Given the description of an element on the screen output the (x, y) to click on. 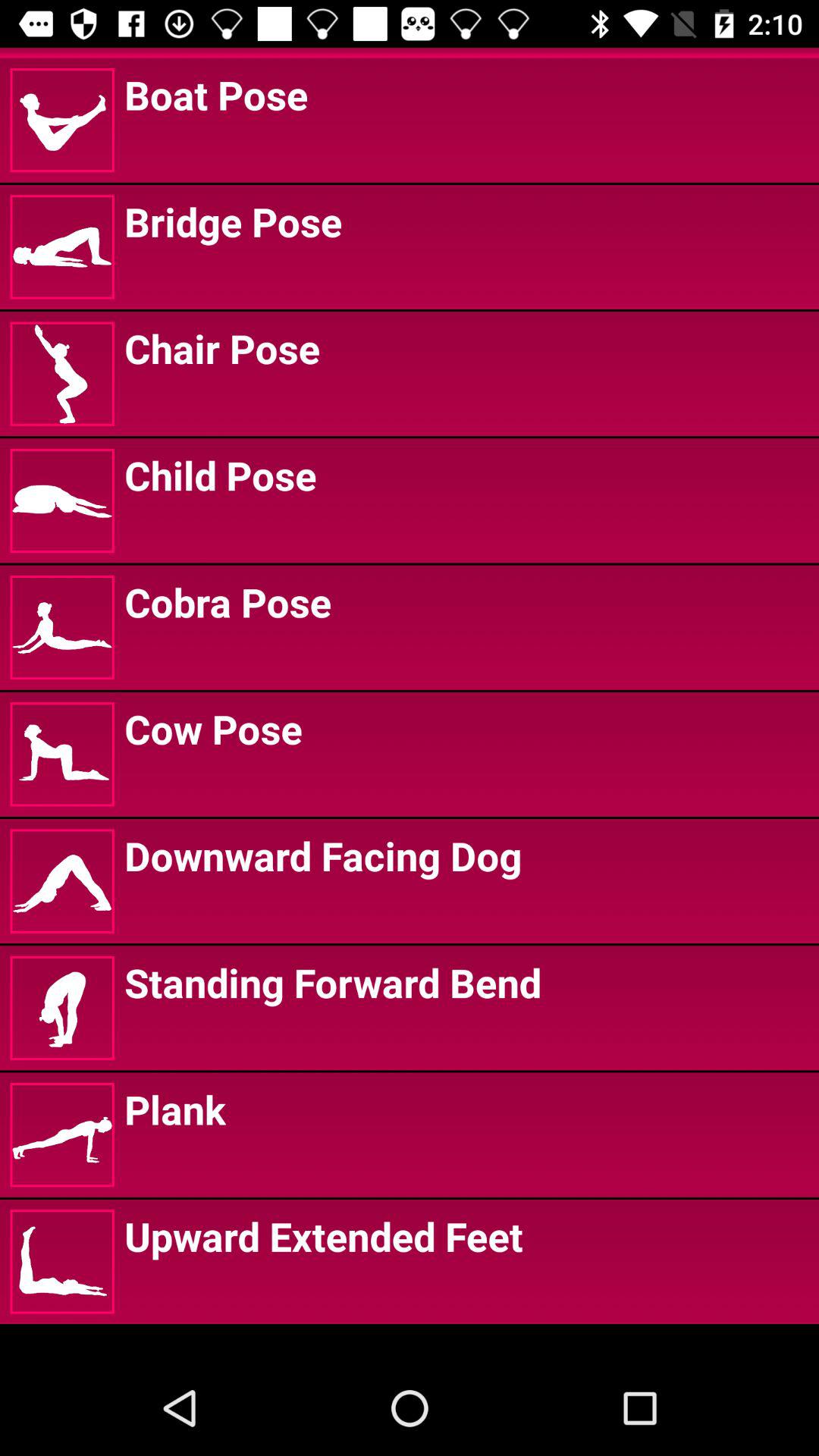
select  the option  beside  plank (62, 1134)
